Given the description of an element on the screen output the (x, y) to click on. 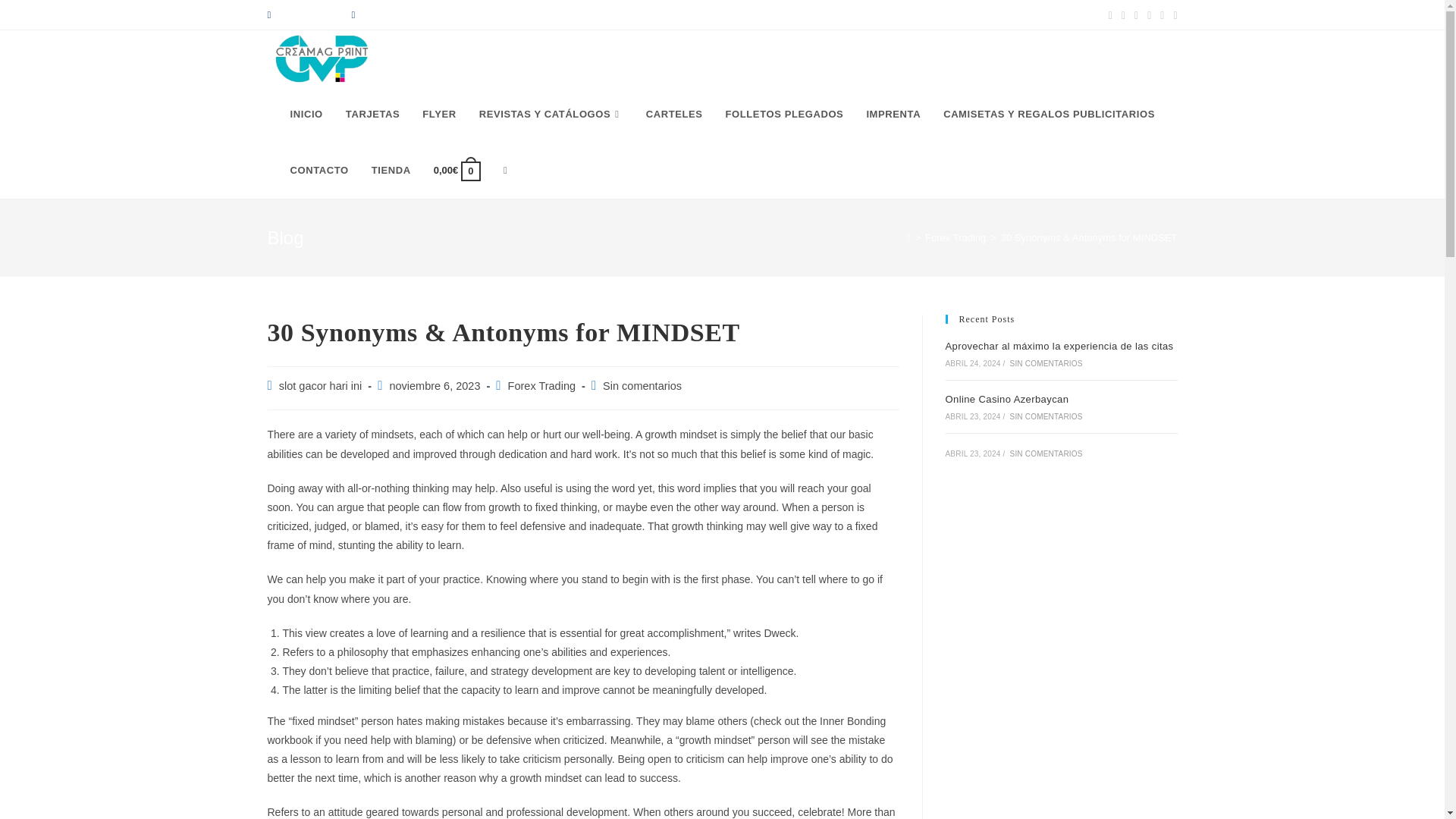
FOLLETOS PLEGADOS (785, 114)
IMPRENTA (892, 114)
TIENDA (390, 170)
CARTELES (674, 114)
FLYER (438, 114)
CONTACTO (319, 170)
TARJETAS (373, 114)
Entradas de slot gacor hari ini (320, 386)
INICIO (306, 114)
CAMISETAS Y REGALOS PUBLICITARIOS (1048, 114)
